Given the description of an element on the screen output the (x, y) to click on. 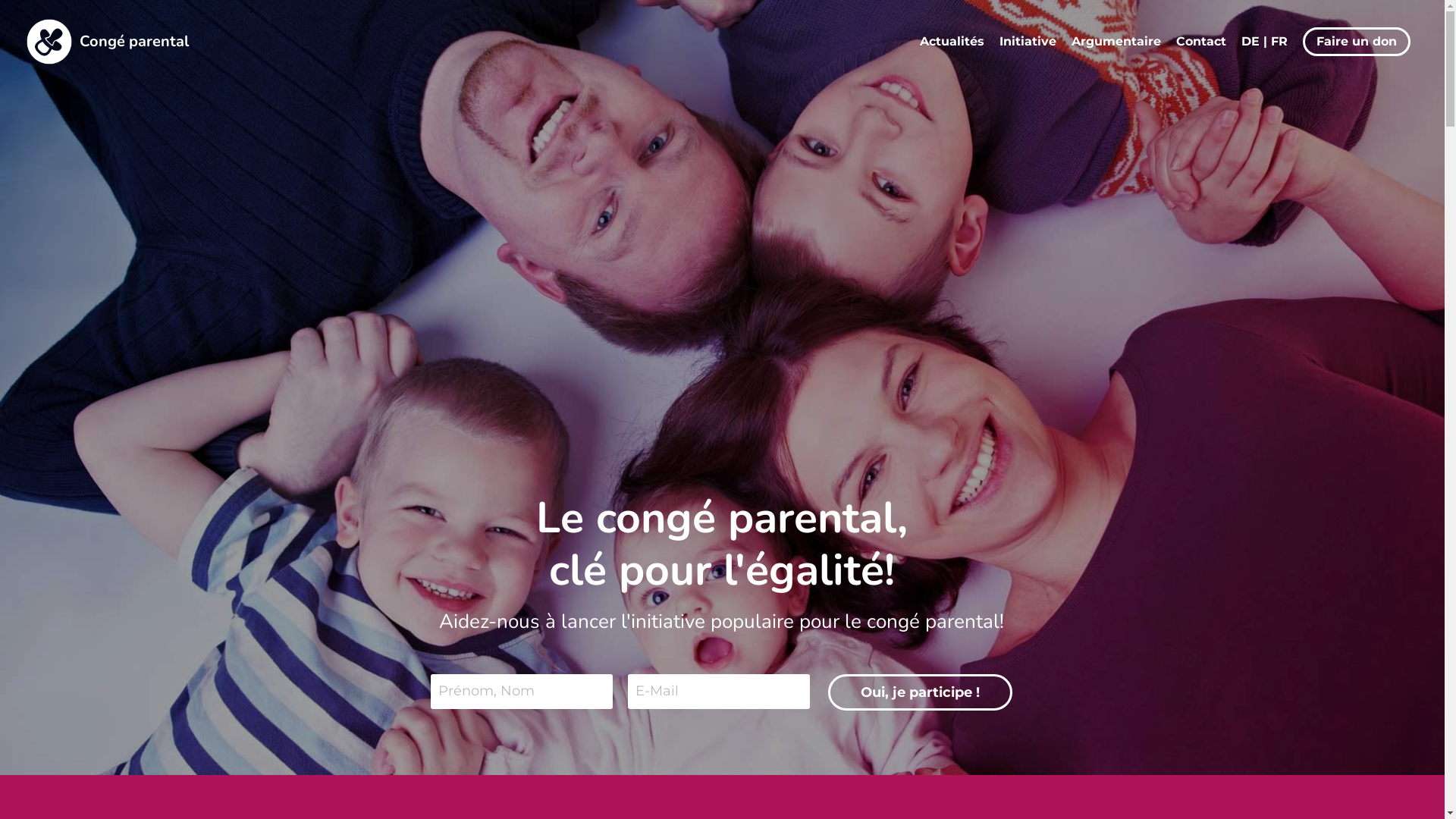
Argumentaire Element type: text (1116, 41)
DE | FR Element type: text (1264, 41)
Initiative Element type: text (1027, 41)
Contact Element type: text (1201, 41)
Oui, je participe ! Element type: text (920, 692)
Faire un don Element type: text (1356, 41)
